Given the description of an element on the screen output the (x, y) to click on. 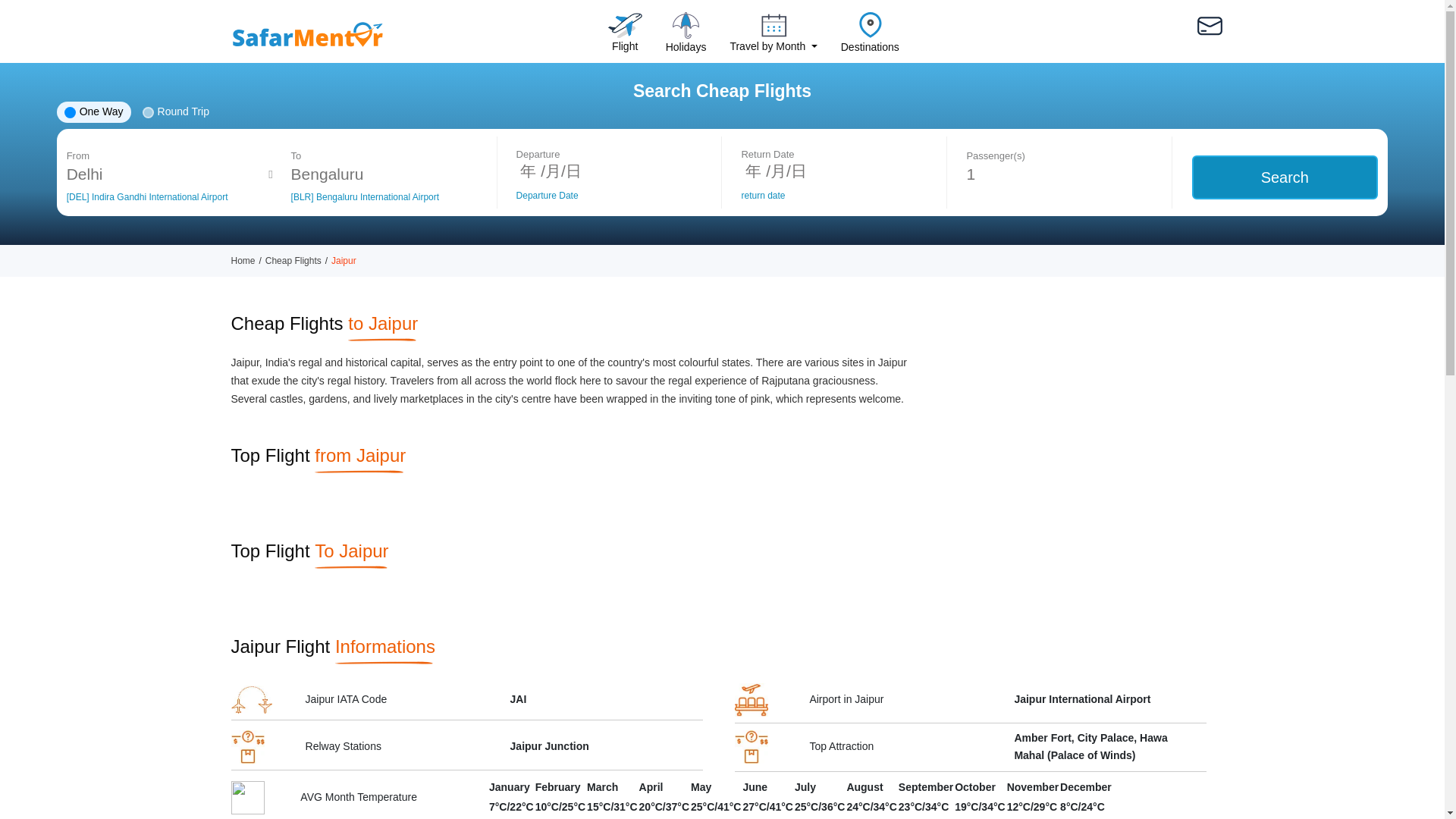
Flight (624, 37)
Travel by Month (772, 37)
Cheap Flights (292, 260)
Home (242, 260)
Destinations (869, 37)
Search (1284, 177)
1 (1059, 173)
Holidays (686, 37)
